Given the description of an element on the screen output the (x, y) to click on. 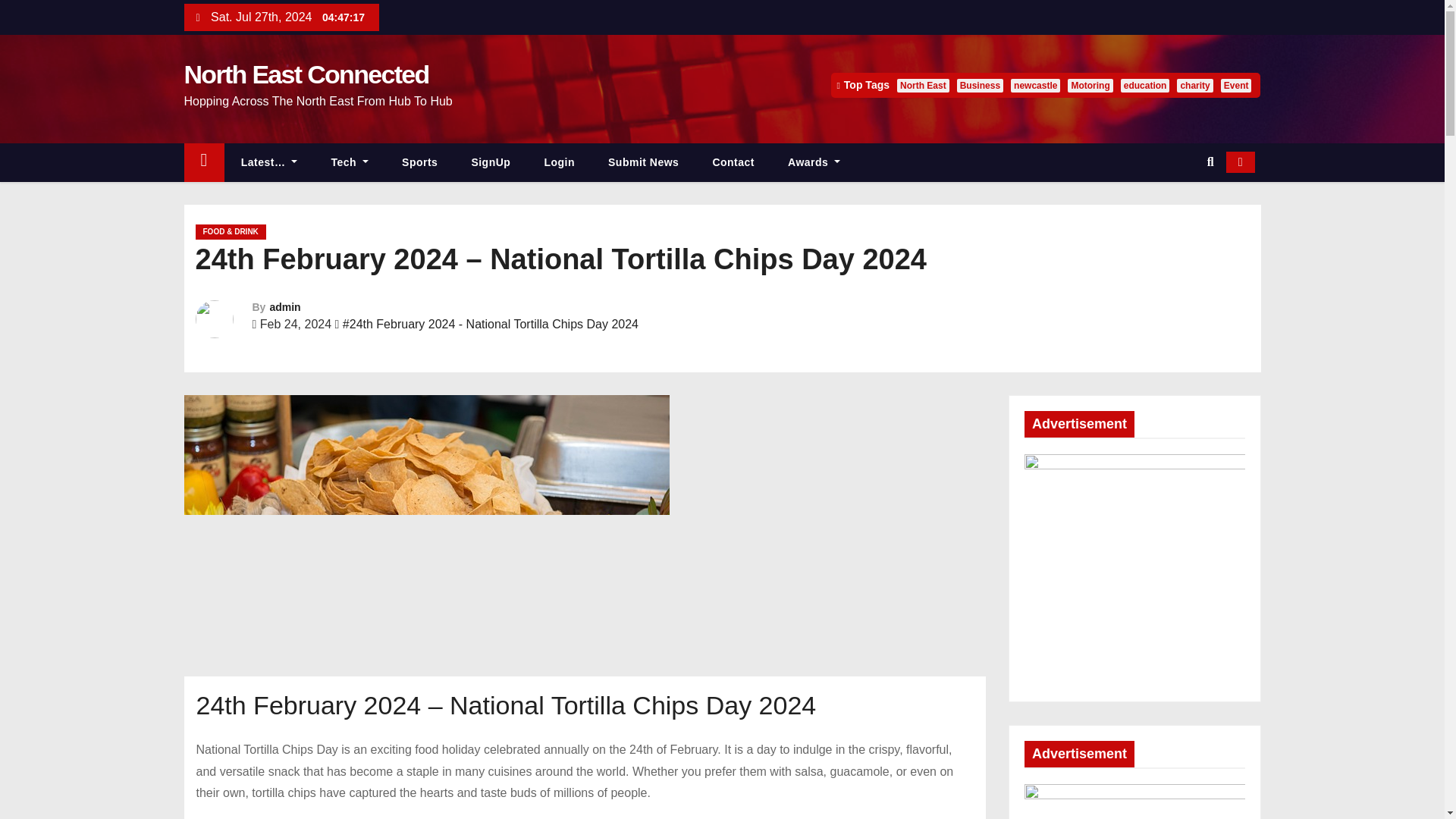
SignUp (490, 162)
Tech (349, 162)
admin (284, 306)
Login (559, 162)
North East (922, 85)
Contact (733, 162)
Contact (733, 162)
education (1145, 85)
Login (559, 162)
Awards (814, 162)
Sports (419, 162)
Tech (349, 162)
newcastle (1034, 85)
charity (1194, 85)
SignUp (490, 162)
